Given the description of an element on the screen output the (x, y) to click on. 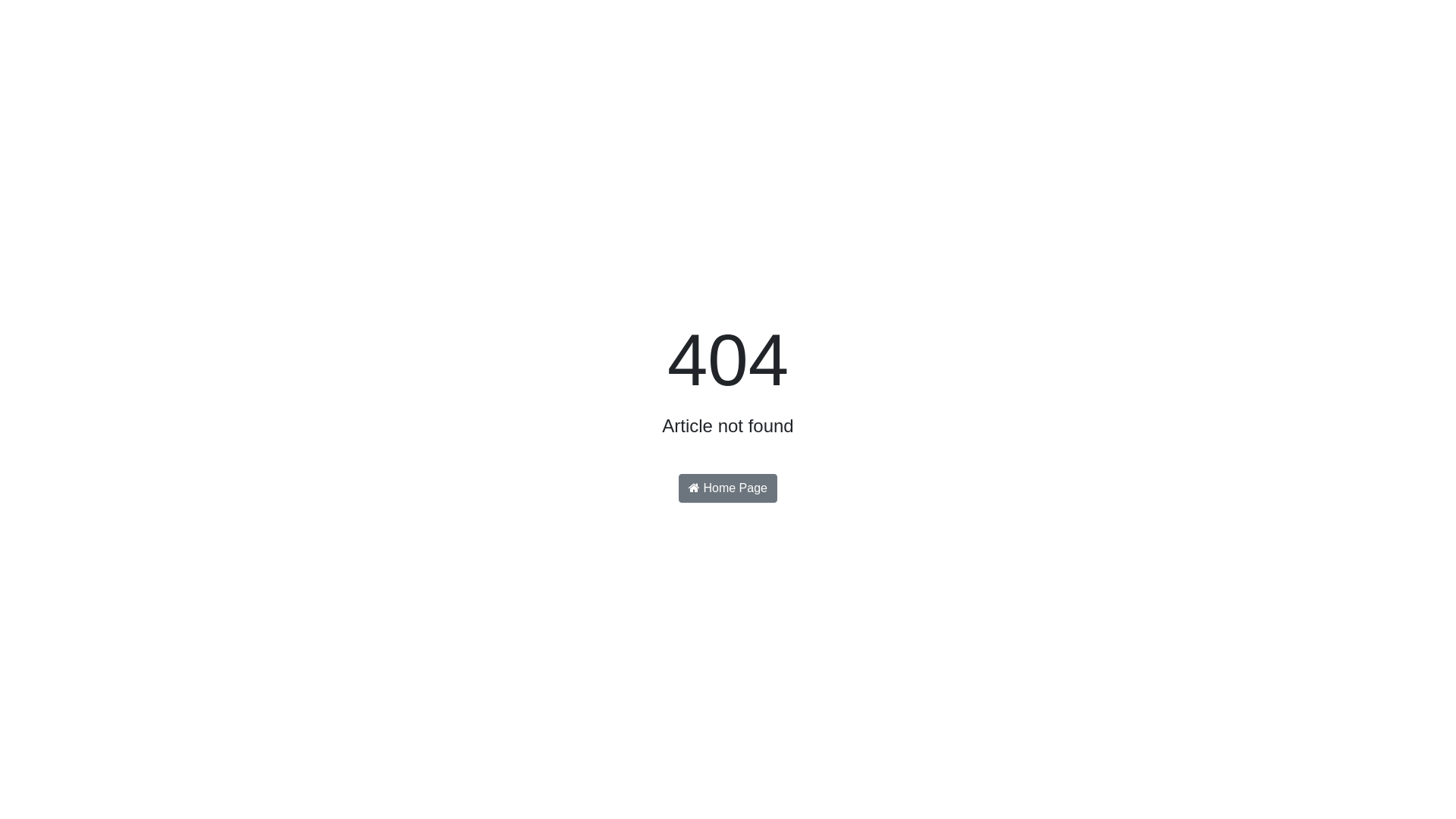
Home Page Element type: text (727, 487)
